Given the description of an element on the screen output the (x, y) to click on. 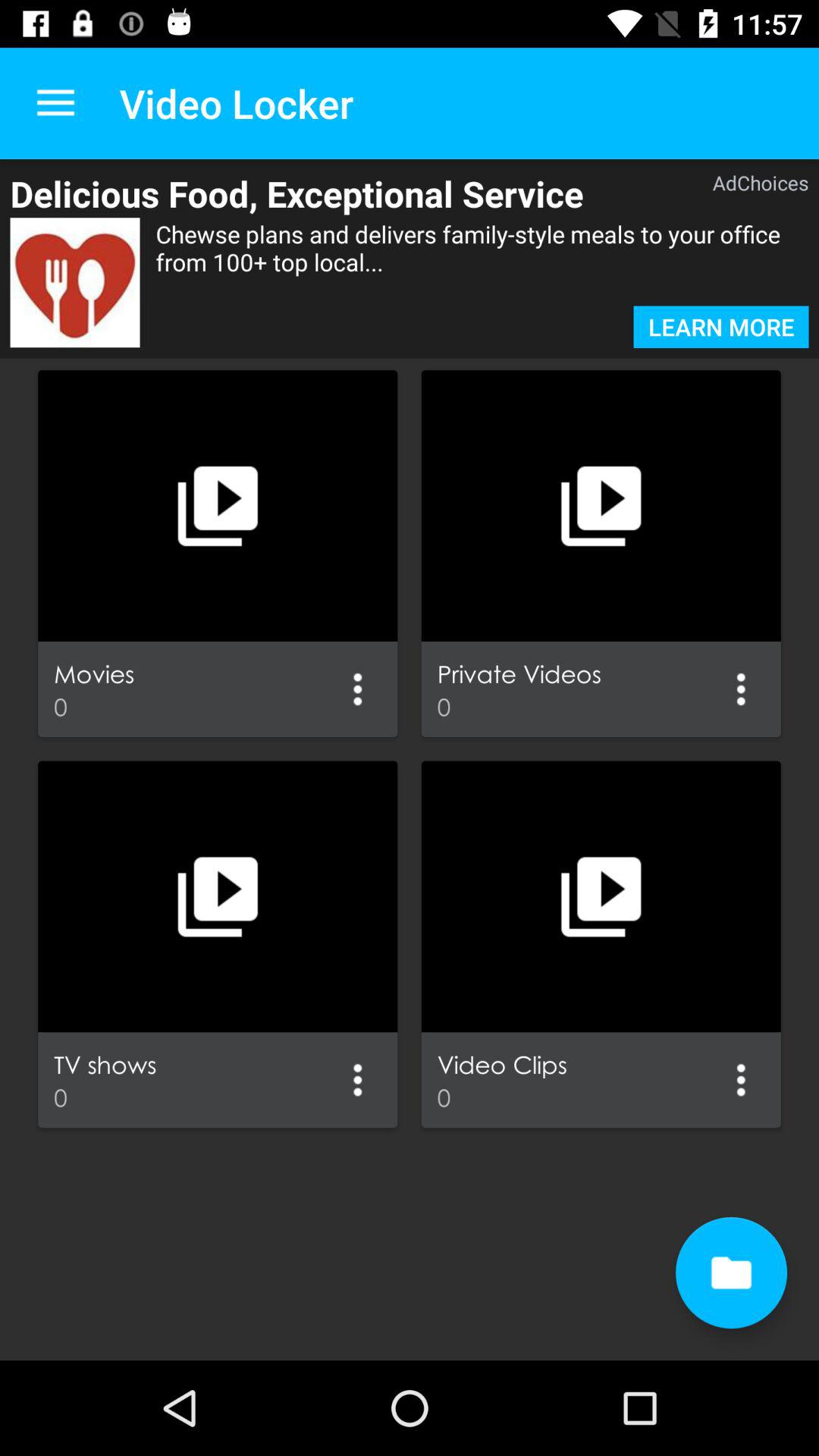
select the folder beside the movies folder (601, 505)
